Given the description of an element on the screen output the (x, y) to click on. 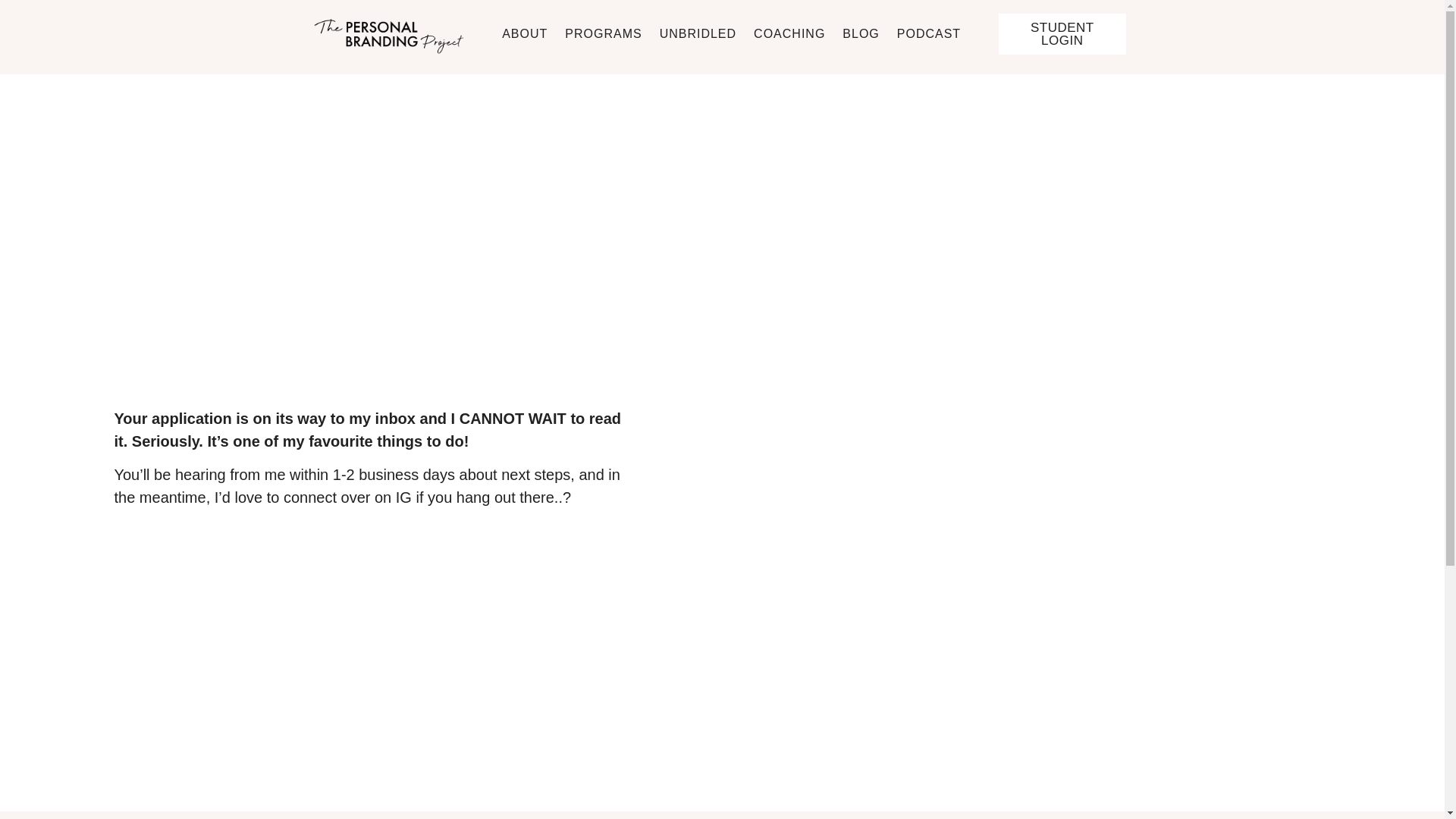
ABOUT (524, 33)
UNBRIDLED (697, 33)
PROGRAMS (603, 33)
PODCAST (928, 33)
STUDENT LOGIN (1061, 33)
COACHING (789, 33)
